Given the description of an element on the screen output the (x, y) to click on. 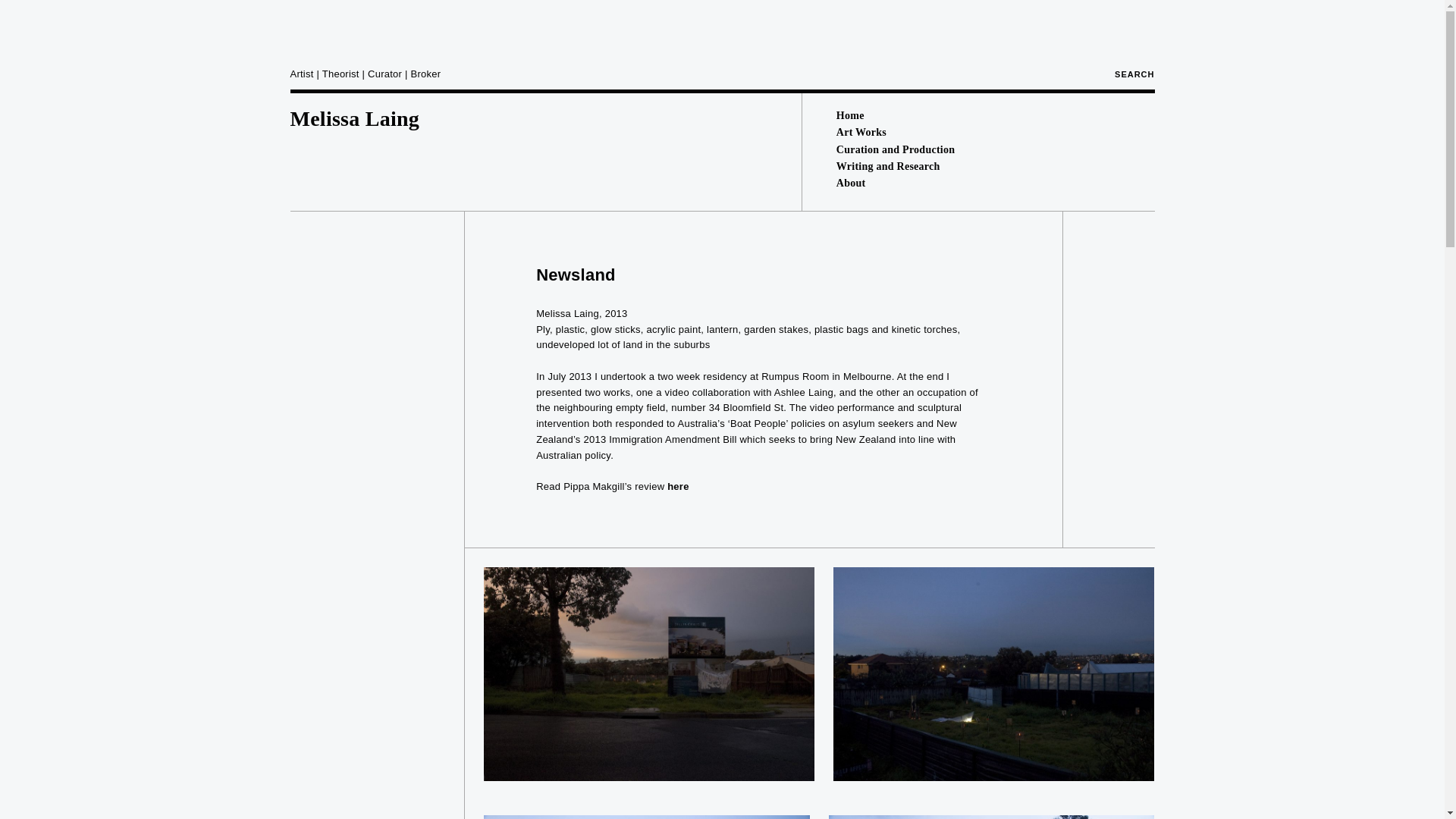
here (677, 486)
Writing and Research (887, 165)
Melissa Laing (354, 118)
Curation and Production (895, 149)
Home (849, 115)
SEARCH (1134, 73)
Art Works (860, 132)
About (850, 183)
